Given the description of an element on the screen output the (x, y) to click on. 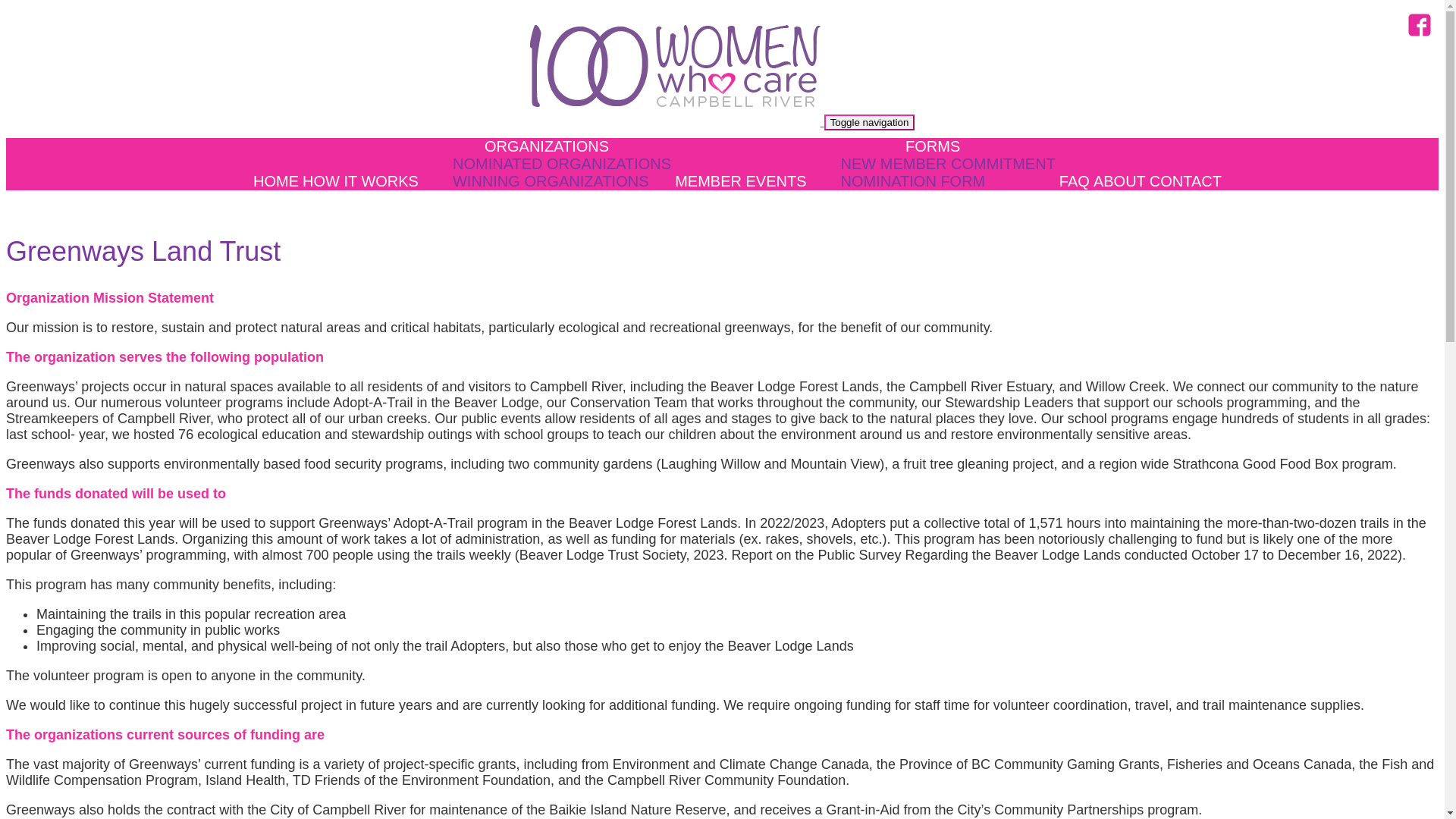
MEMBER EVENTS Element type: text (740, 180)
FAQ Element type: text (1074, 180)
NOMINATED ORGANIZATIONS Element type: text (561, 163)
FORMS Element type: text (932, 146)
CONTACT Element type: text (1185, 180)
Toggle navigation Element type: text (869, 122)
HOME Element type: text (275, 180)
WINNING ORGANIZATIONS Element type: text (550, 180)
NEW MEMBER COMMITMENT Element type: text (947, 163)
Home Element type: hover (677, 120)
NOMINATION FORM Element type: text (912, 180)
ABOUT Element type: text (1119, 180)
Skip to main content Element type: text (6, 6)
ORGANIZATIONS Element type: text (546, 146)
HOW IT WORKS Element type: text (360, 180)
